Given the description of an element on the screen output the (x, y) to click on. 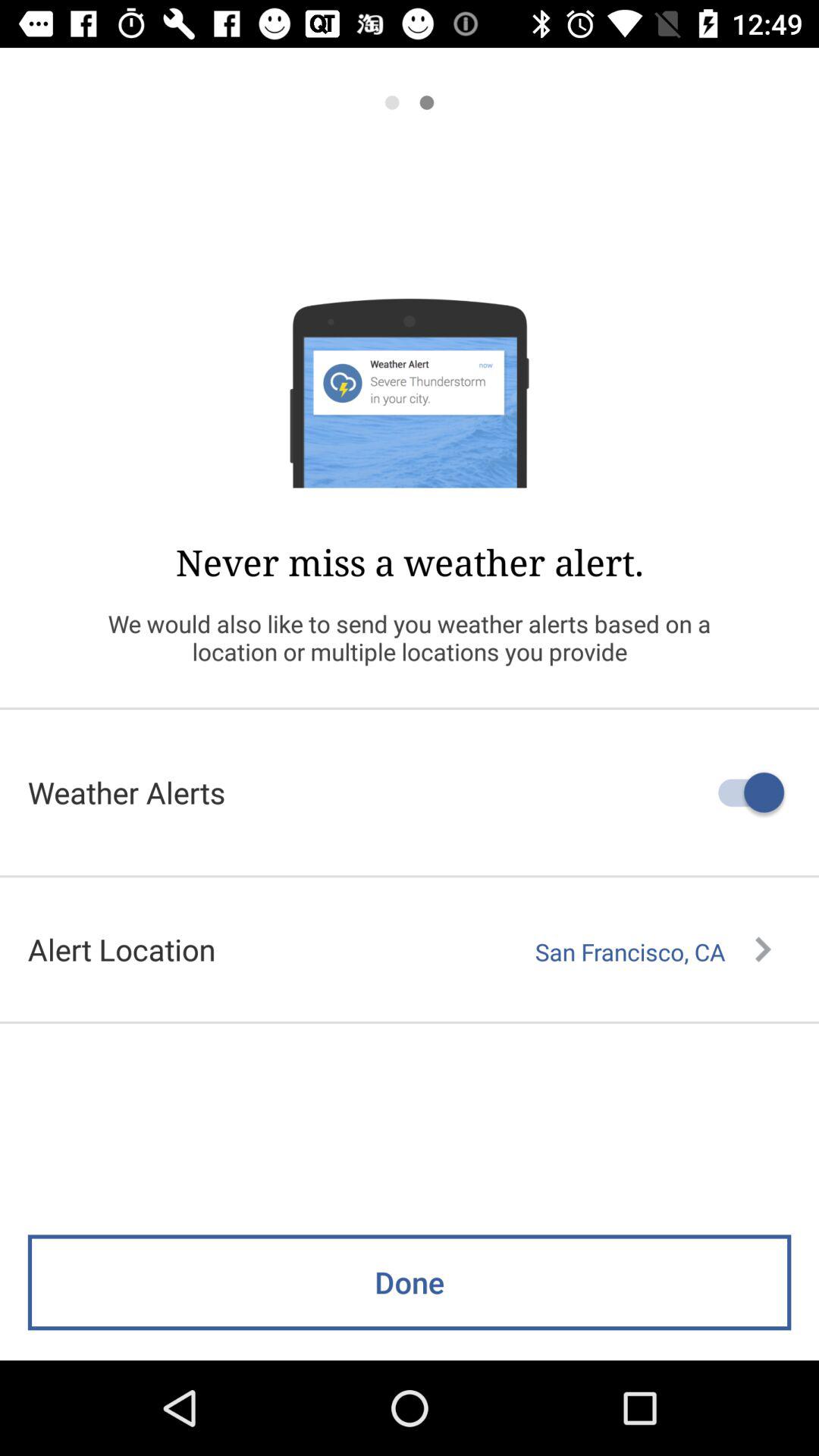
scroll to the san francisco, ca (653, 951)
